Given the description of an element on the screen output the (x, y) to click on. 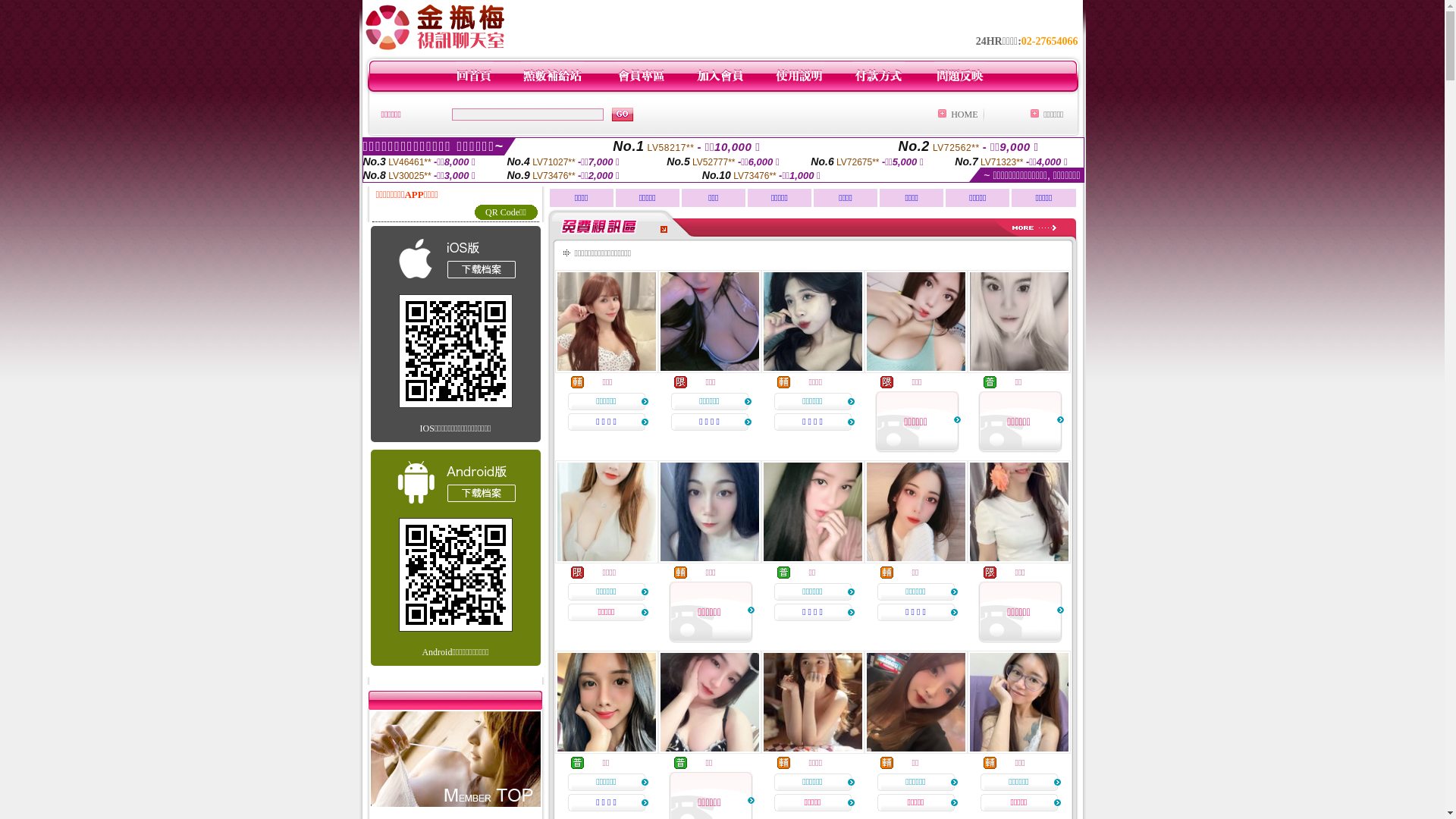
HOME Element type: text (963, 114)
